Given the description of an element on the screen output the (x, y) to click on. 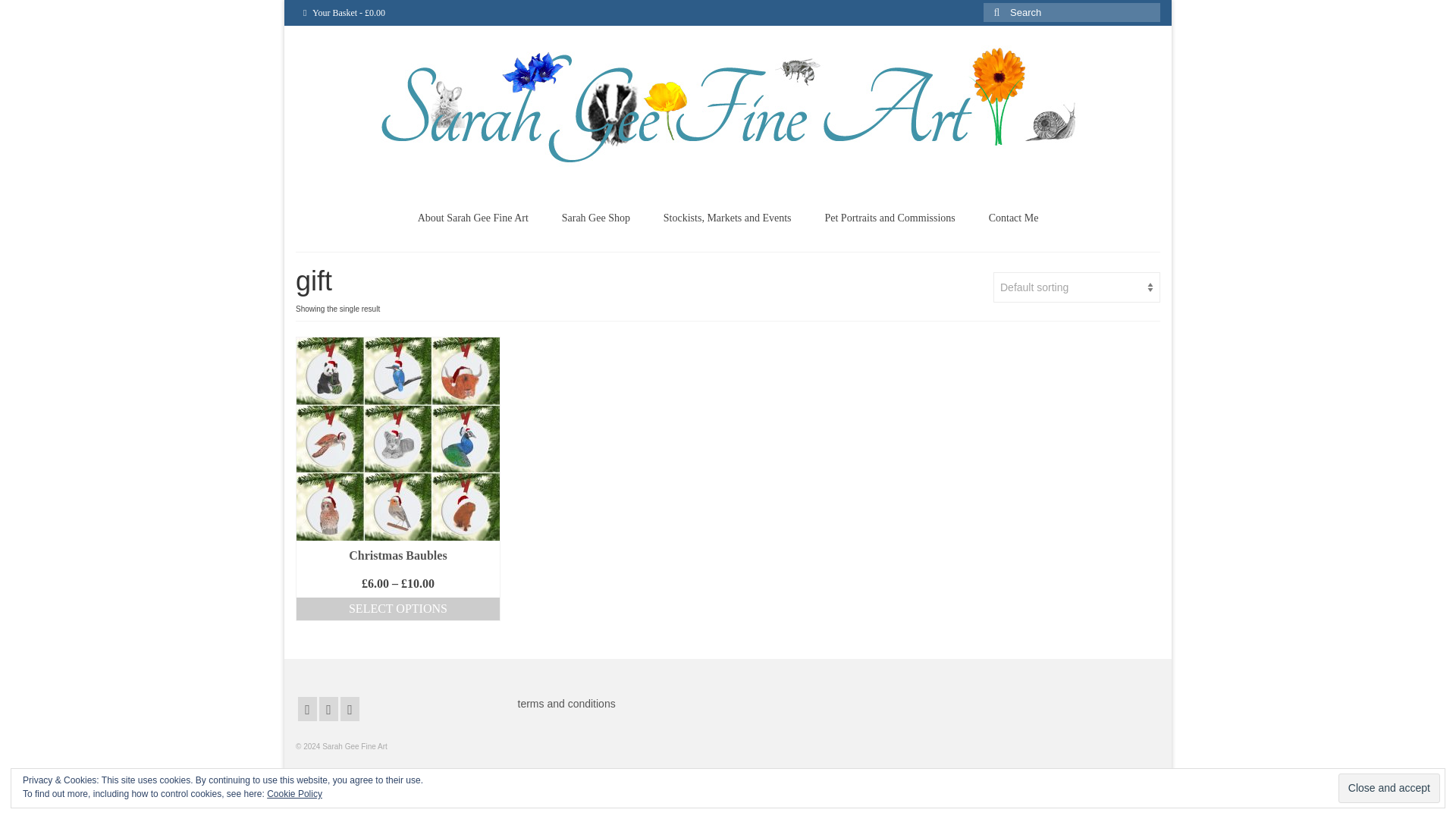
Sarah Gee Shop (596, 217)
About Sarah Gee Fine Art (473, 217)
terms and conditions (565, 703)
Stockists, Markets and Events (726, 217)
Christmas Baubles (398, 555)
Pet Portraits and Commissions (889, 217)
SELECT OPTIONS (398, 608)
Contact Me (1014, 217)
View your shopping basket (344, 12)
